Given the description of an element on the screen output the (x, y) to click on. 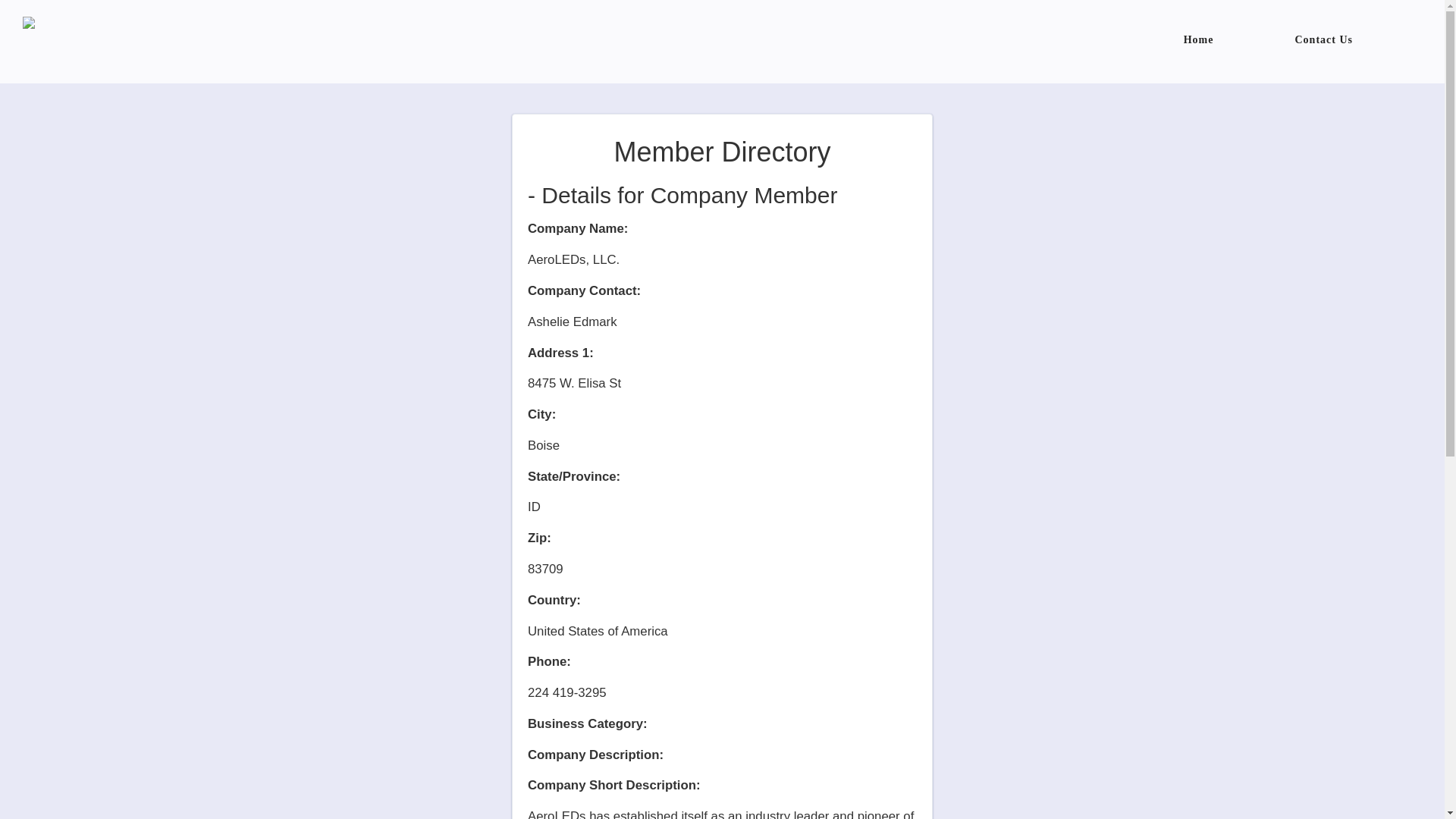
Home (1198, 39)
Contact Us (1324, 39)
